Given the description of an element on the screen output the (x, y) to click on. 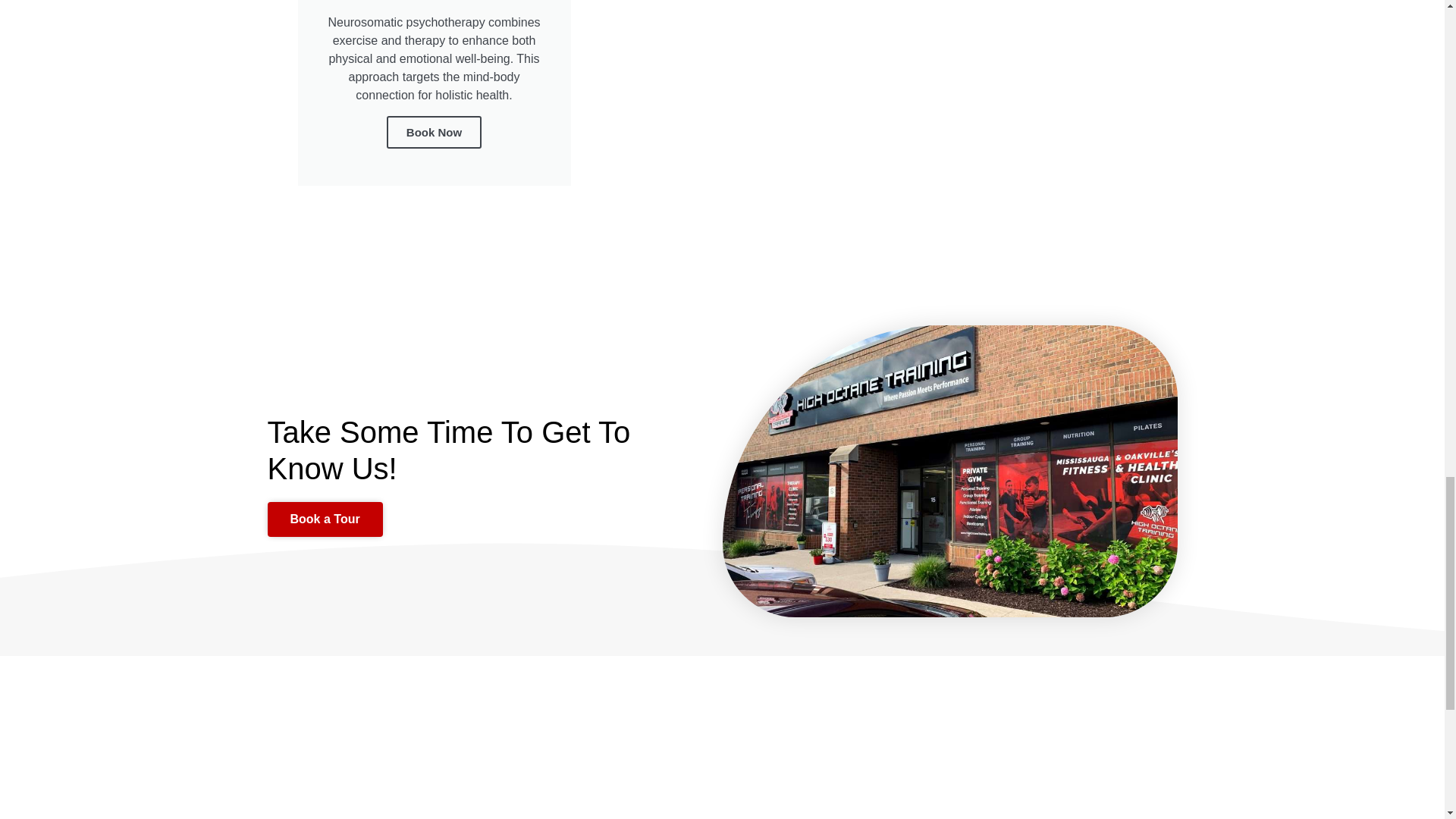
Book Now (434, 132)
Book a Tour (323, 519)
